Given the description of an element on the screen output the (x, y) to click on. 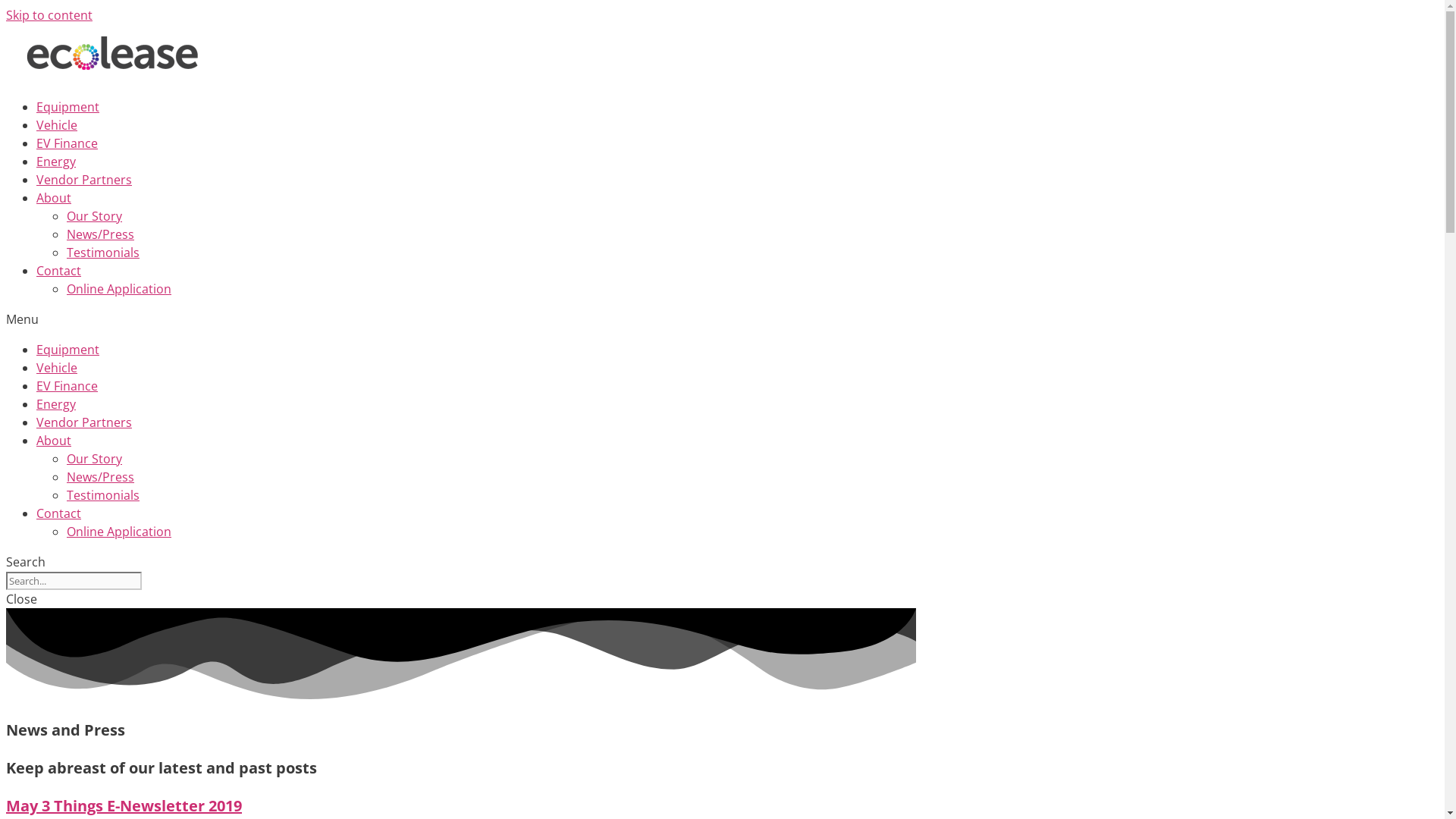
Energy Element type: text (55, 403)
News/Press Element type: text (100, 233)
Energy Element type: text (55, 161)
About Element type: text (53, 440)
Vendor Partners Element type: text (83, 422)
Our Story Element type: text (94, 458)
Our Story Element type: text (94, 215)
EV Finance Element type: text (66, 385)
Vehicle Element type: text (56, 124)
Vehicle Element type: text (56, 367)
Search Element type: hover (73, 580)
Skip to content Element type: text (49, 14)
Equipment Element type: text (67, 349)
Online Application Element type: text (118, 531)
Online Application Element type: text (118, 288)
EV Finance Element type: text (66, 142)
Testimonials Element type: text (102, 494)
About Element type: text (53, 197)
Vendor Partners Element type: text (83, 179)
Contact Element type: text (58, 270)
Equipment Element type: text (67, 106)
Testimonials Element type: text (102, 252)
May 3 Things E-Newsletter 2019 Element type: text (123, 805)
Contact Element type: text (58, 513)
News/Press Element type: text (100, 476)
